Given the description of an element on the screen output the (x, y) to click on. 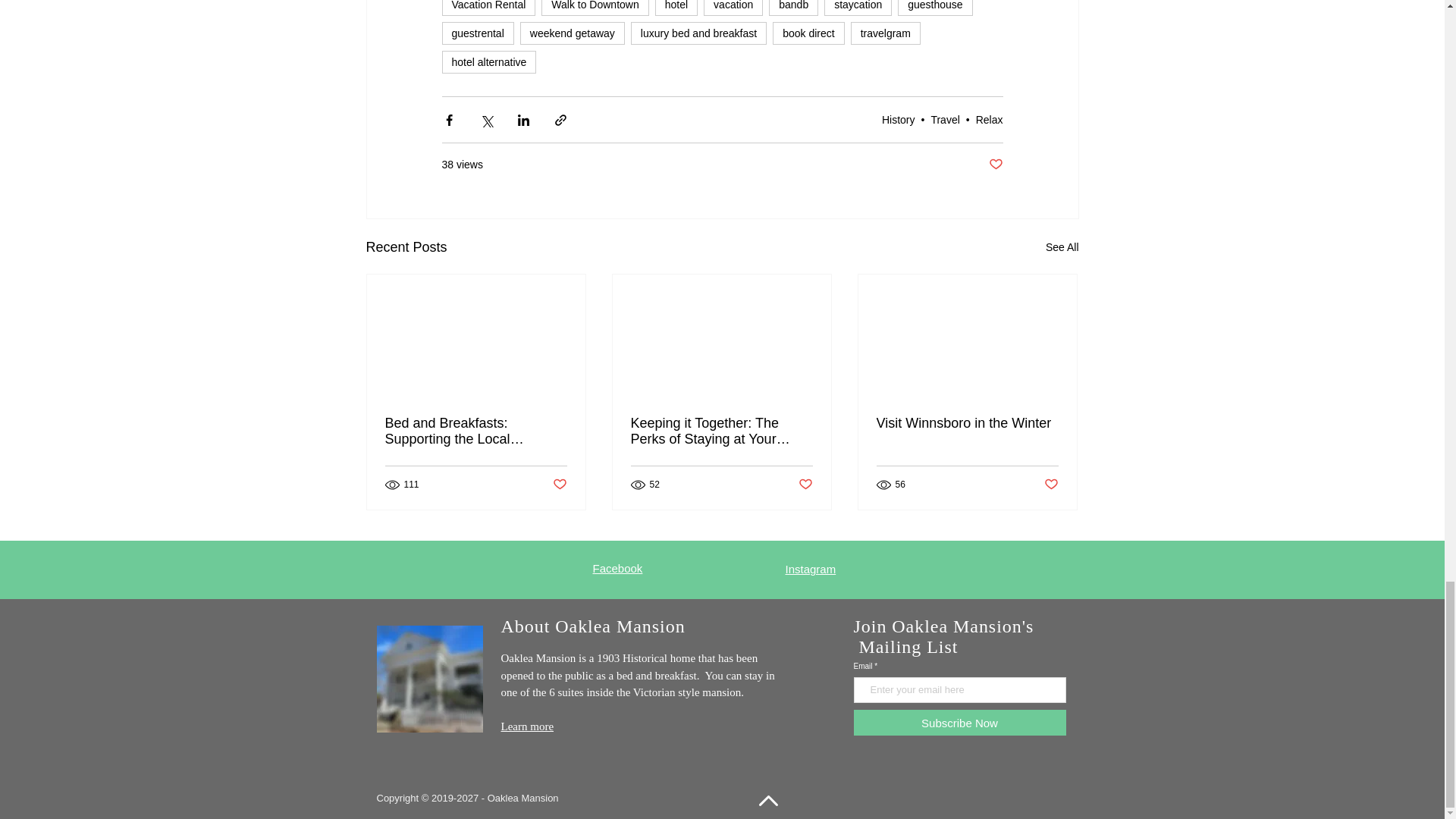
bandb (793, 7)
Walk to Downtown (594, 7)
staycation (857, 7)
vacation (732, 7)
Vacation Rental (488, 7)
hotel (676, 7)
